Given the description of an element on the screen output the (x, y) to click on. 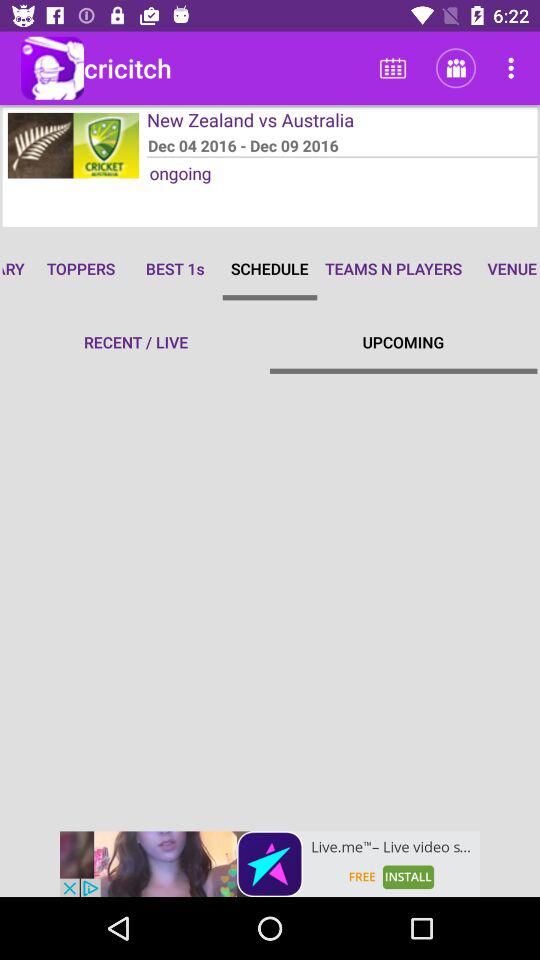
app install advertisement link (270, 864)
